Given the description of an element on the screen output the (x, y) to click on. 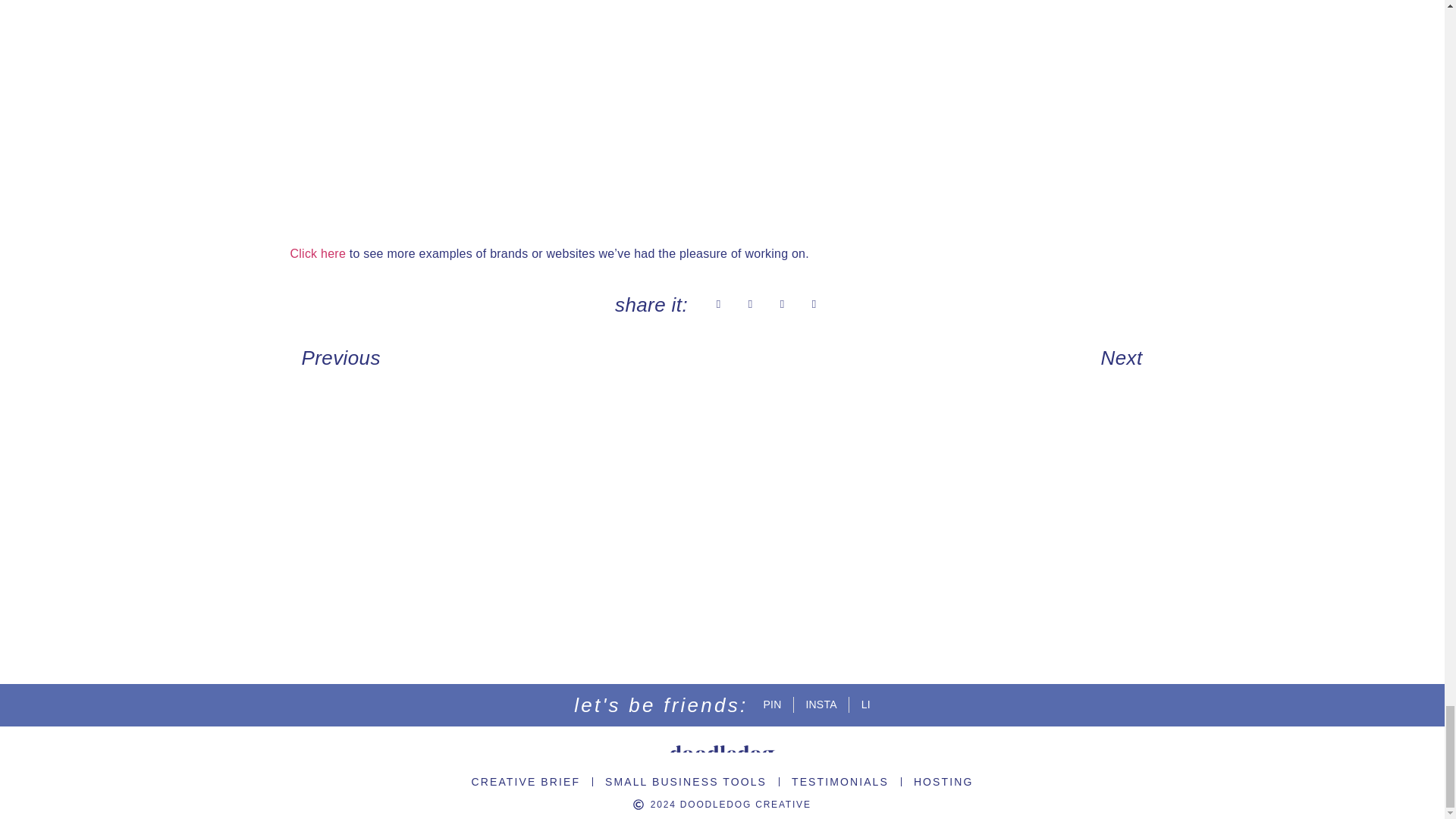
HOSTING (943, 781)
TESTIMONIALS (840, 781)
Previous (505, 358)
Next (938, 358)
INSTA (820, 704)
SMALL BUSINESS TOOLS (686, 781)
Click here (317, 253)
CREATIVE BRIEF (525, 781)
PIN (771, 704)
